Given the description of an element on the screen output the (x, y) to click on. 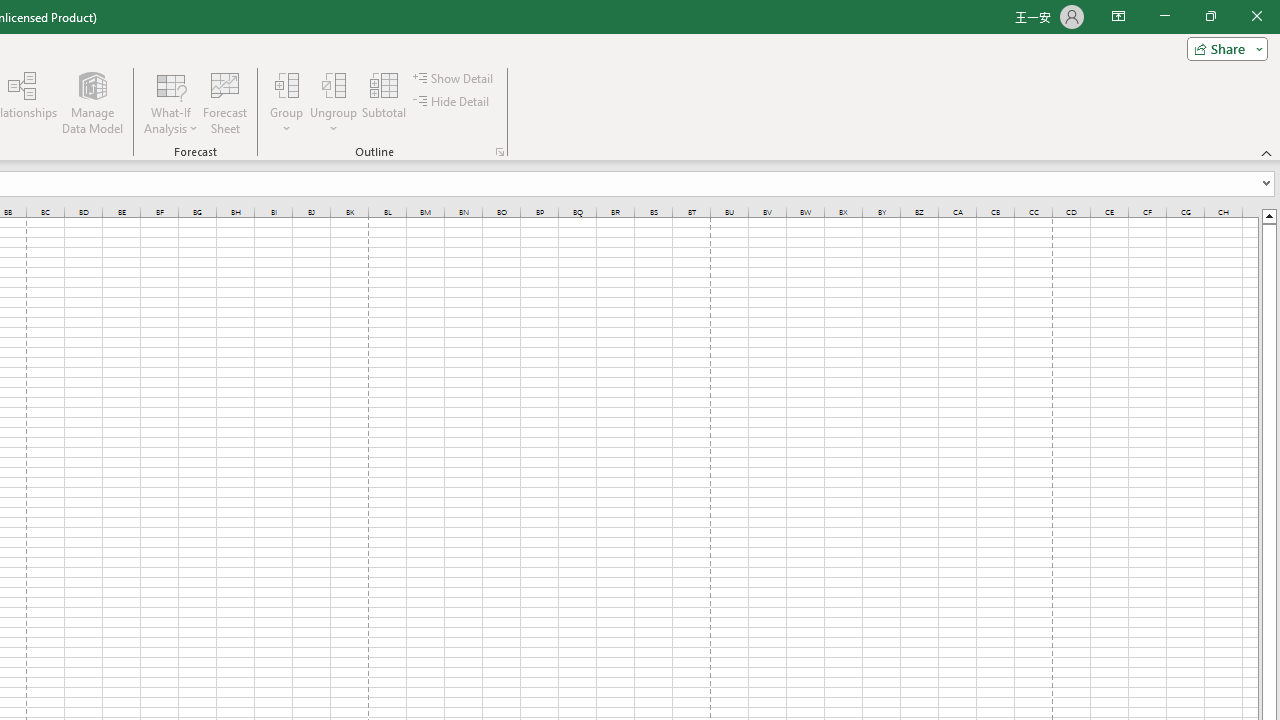
Group... (287, 84)
Ungroup... (333, 102)
Forecast Sheet (224, 102)
Subtotal (384, 102)
Hide Detail (452, 101)
